Given the description of an element on the screen output the (x, y) to click on. 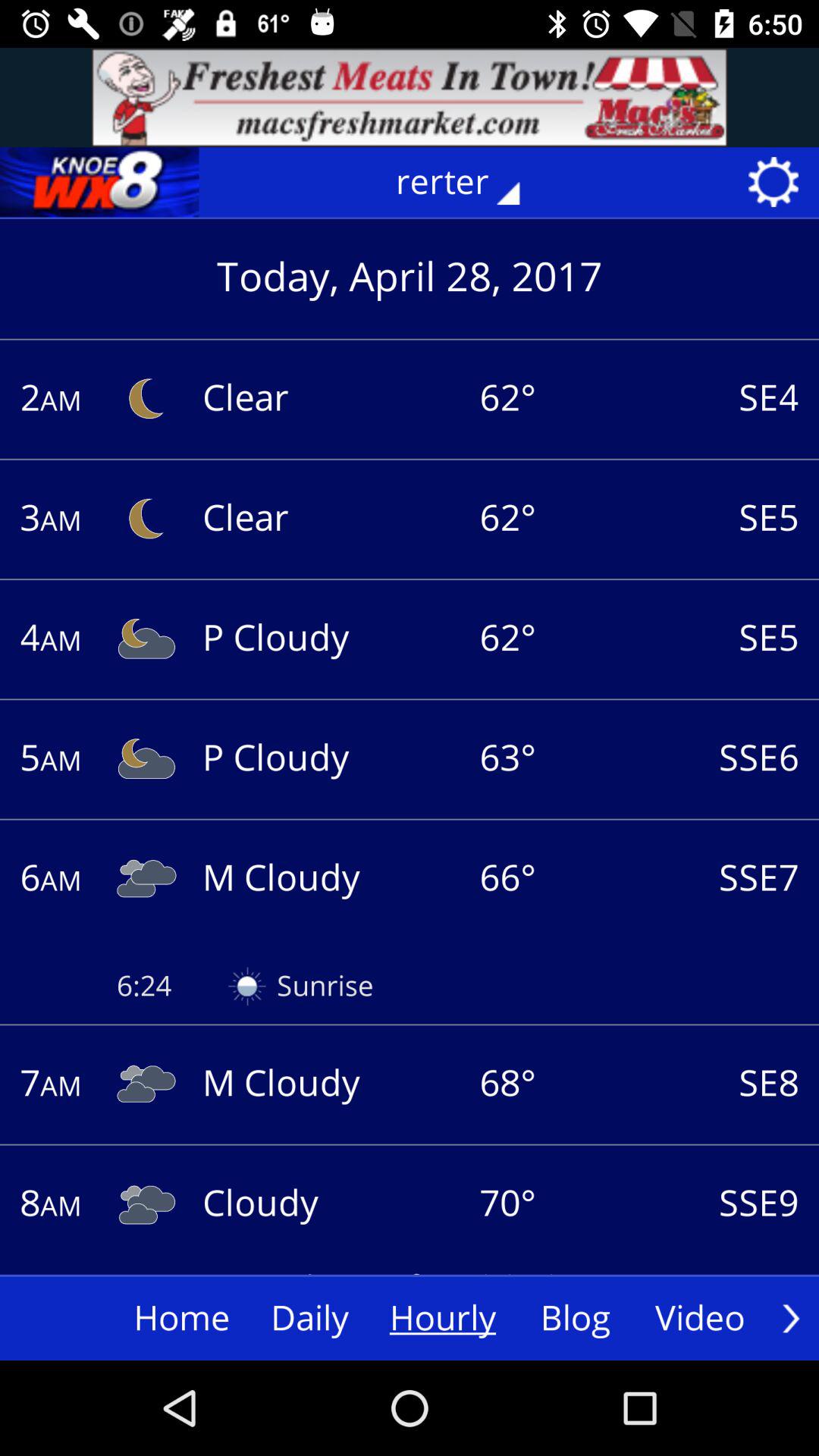
press item next to rerter item (99, 182)
